Given the description of an element on the screen output the (x, y) to click on. 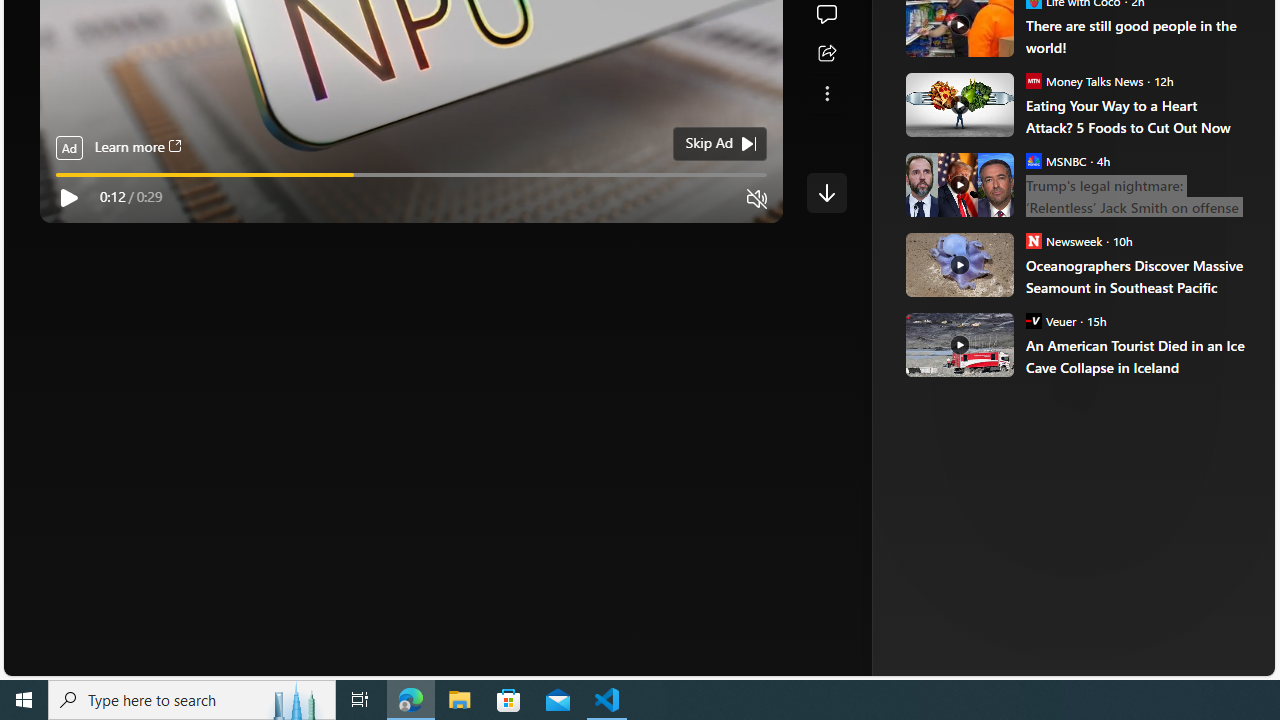
Newsweek Newsweek (1064, 240)
ABC News (974, 12)
Share this story (826, 53)
There are still good people in the world! (1136, 36)
An American Tourist Died in an Ice Cave Collapse in Iceland (958, 344)
